Given the description of an element on the screen output the (x, y) to click on. 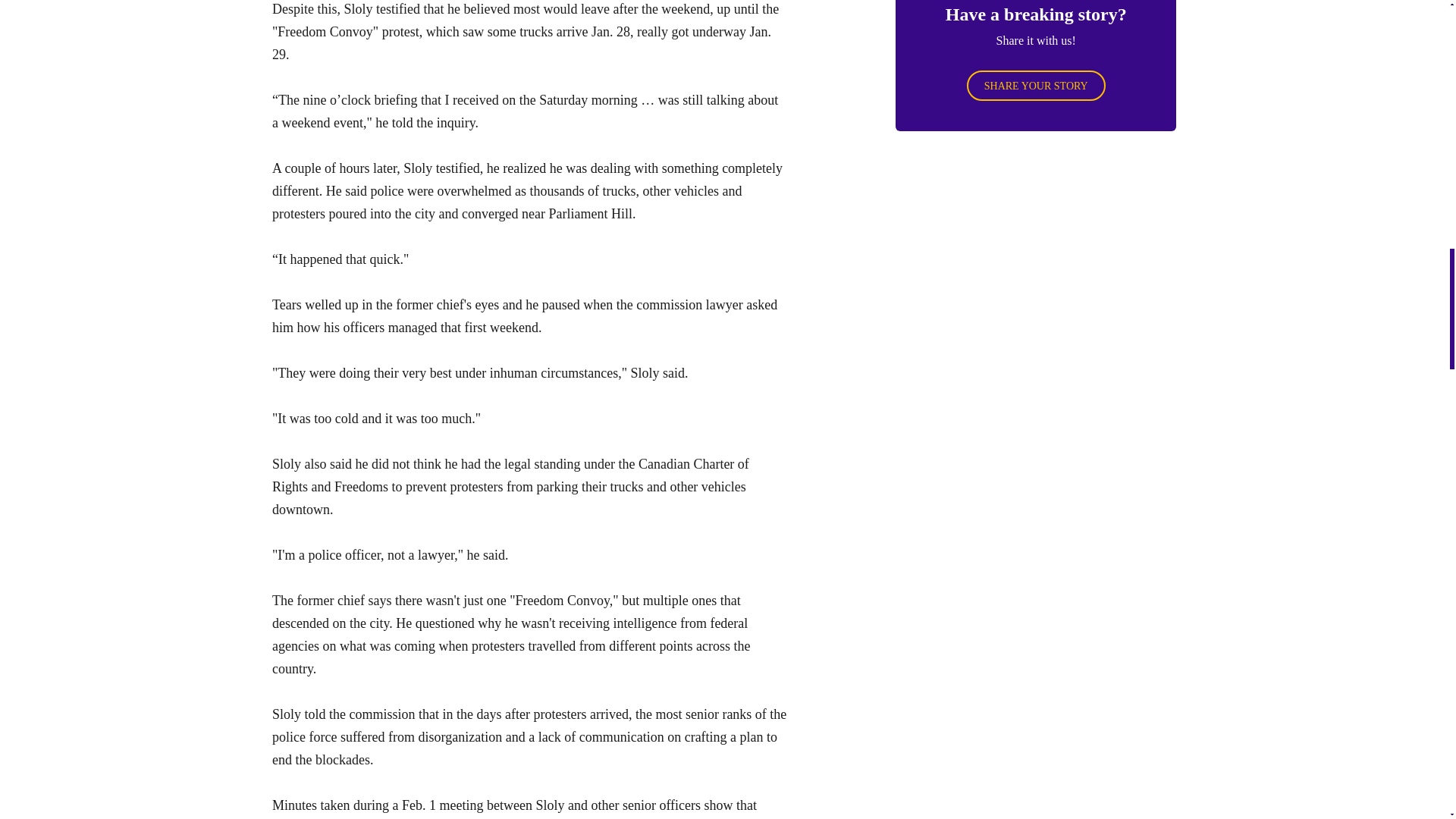
SHARE YOUR STORY (1035, 85)
